Given the description of an element on the screen output the (x, y) to click on. 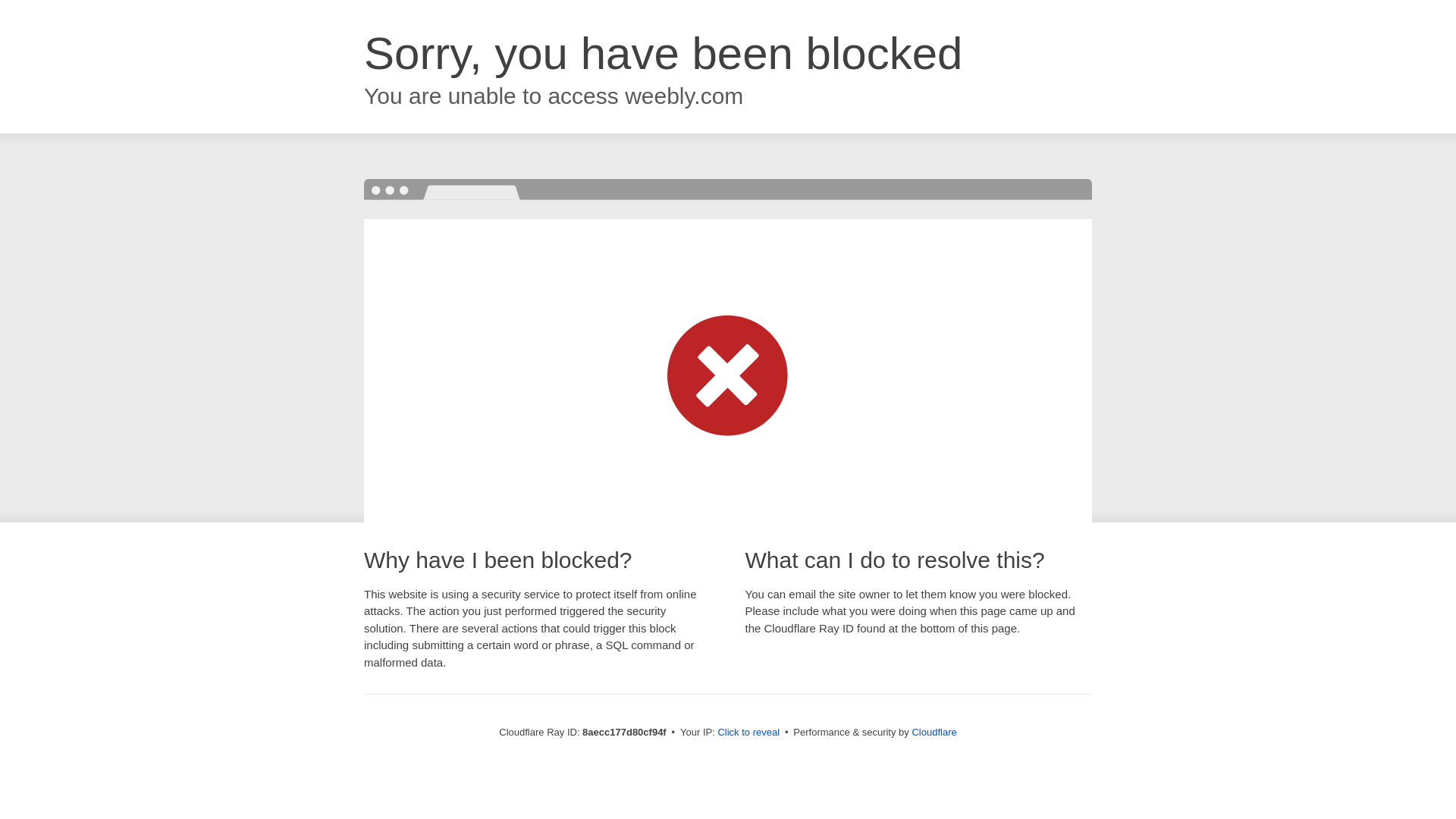
Click to reveal (747, 732)
Cloudflare (933, 731)
